Given the description of an element on the screen output the (x, y) to click on. 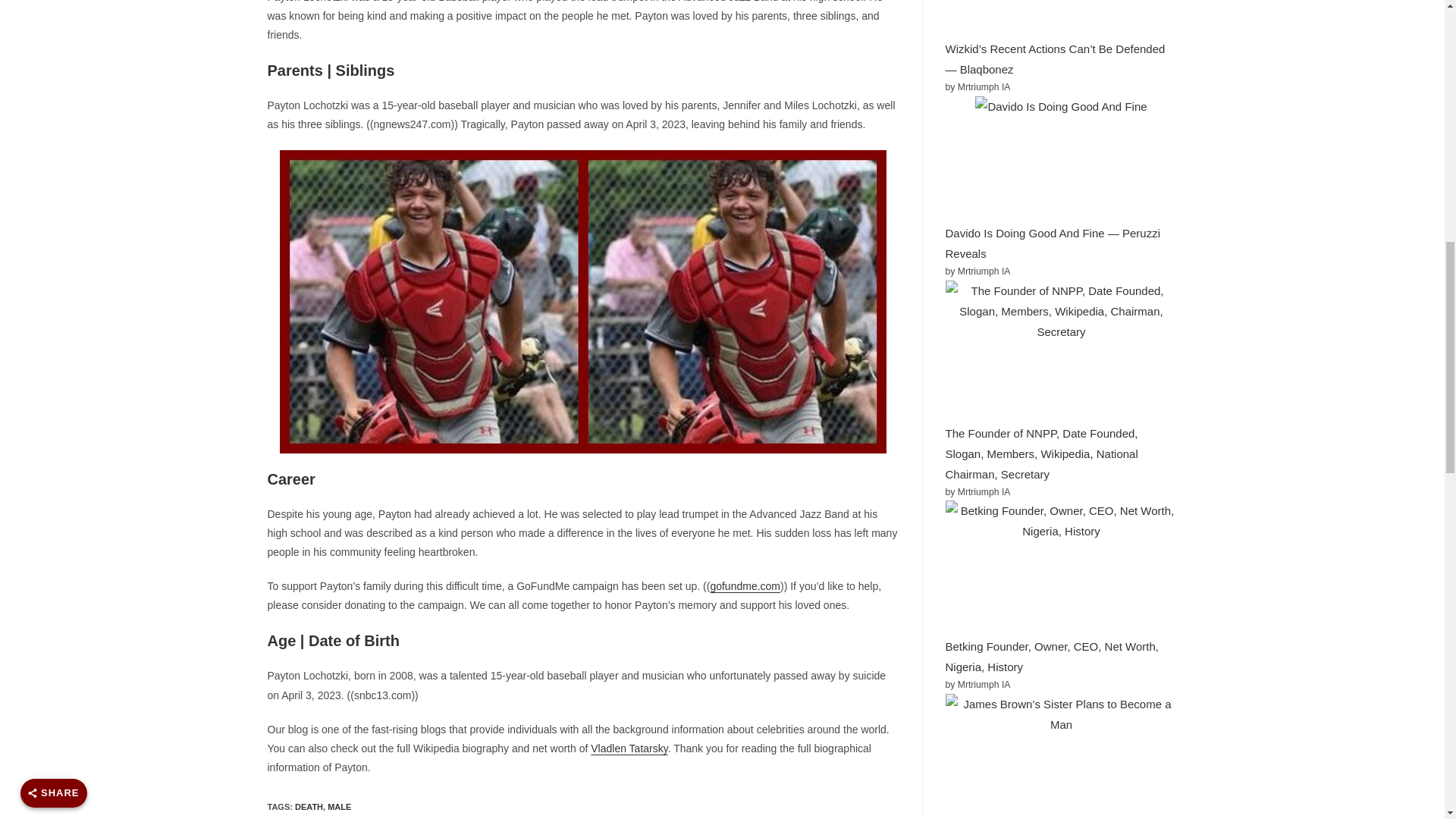
Vladlen Tatarsky (628, 748)
Betking Founder, Owner, CEO, Net Worth, Nigeria, History 18 (1060, 562)
DEATH (309, 806)
gofundme.com (745, 585)
MALE (338, 806)
